Given the description of an element on the screen output the (x, y) to click on. 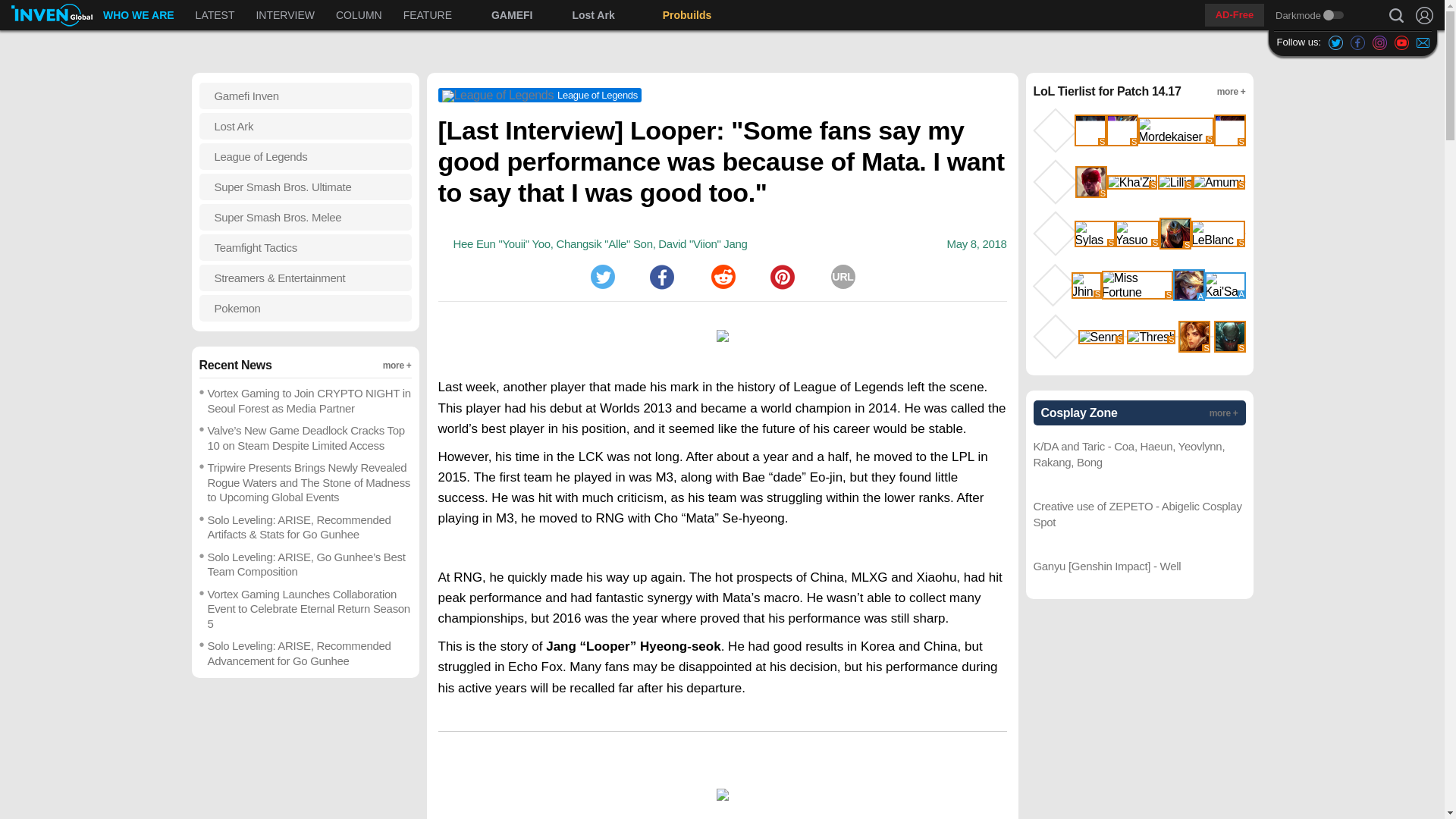
LATEST (215, 15)
INTERVIEW (284, 15)
URL Copy (843, 276)
COLUMN (358, 15)
Login (1424, 15)
Pinterest (782, 276)
Inven Global (407, 15)
Changsik "Alle" Son (52, 15)
Facebook (604, 243)
